Given the description of an element on the screen output the (x, y) to click on. 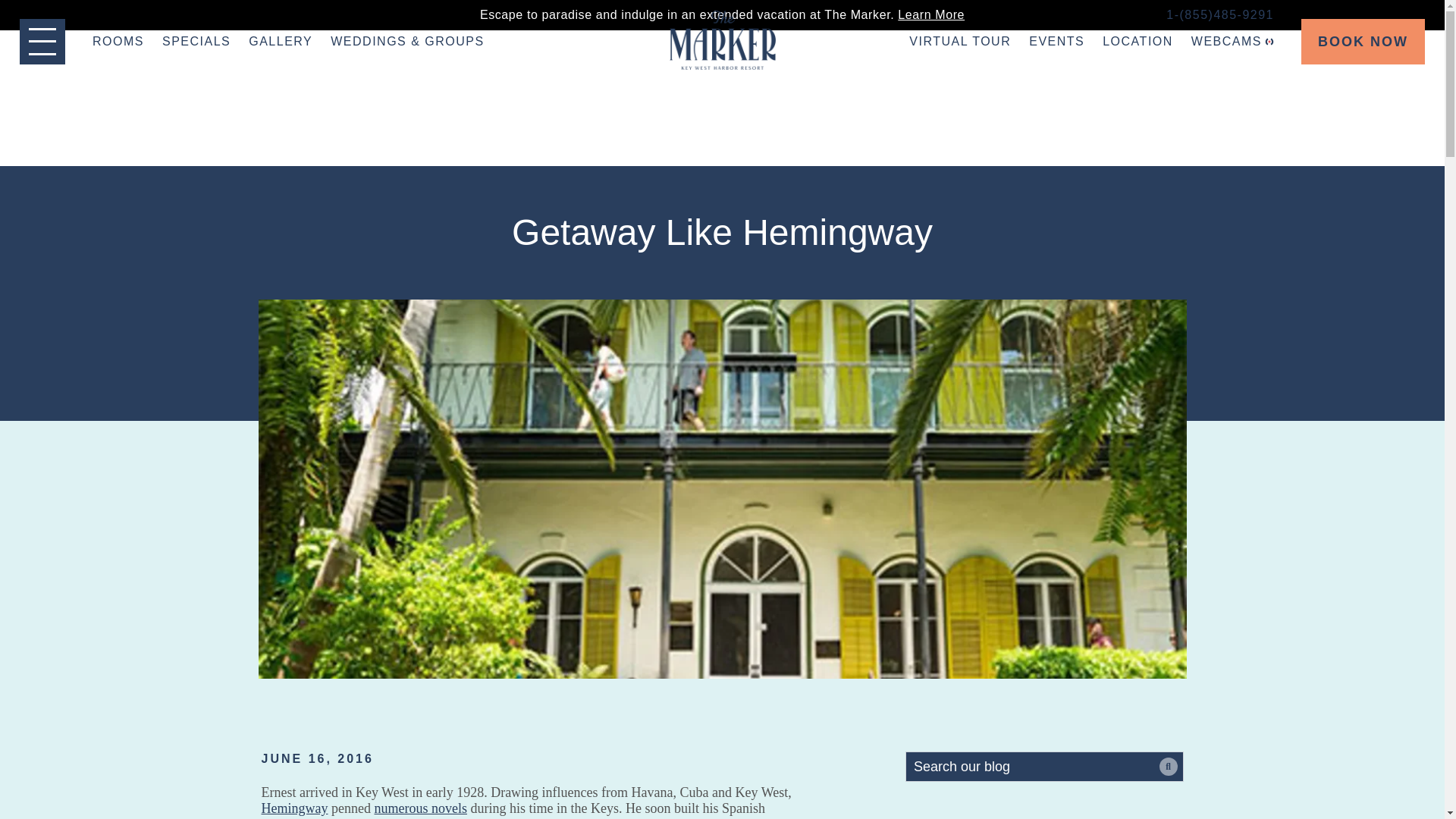
LOCATION (1137, 41)
Learn More (930, 14)
WEBCAMS (1232, 41)
GALLERY (280, 41)
BOOK NOW (1363, 41)
ROOMS (118, 41)
VIRTUAL TOUR (959, 41)
EVENTS (1056, 41)
SPECIALS (195, 41)
